Given the description of an element on the screen output the (x, y) to click on. 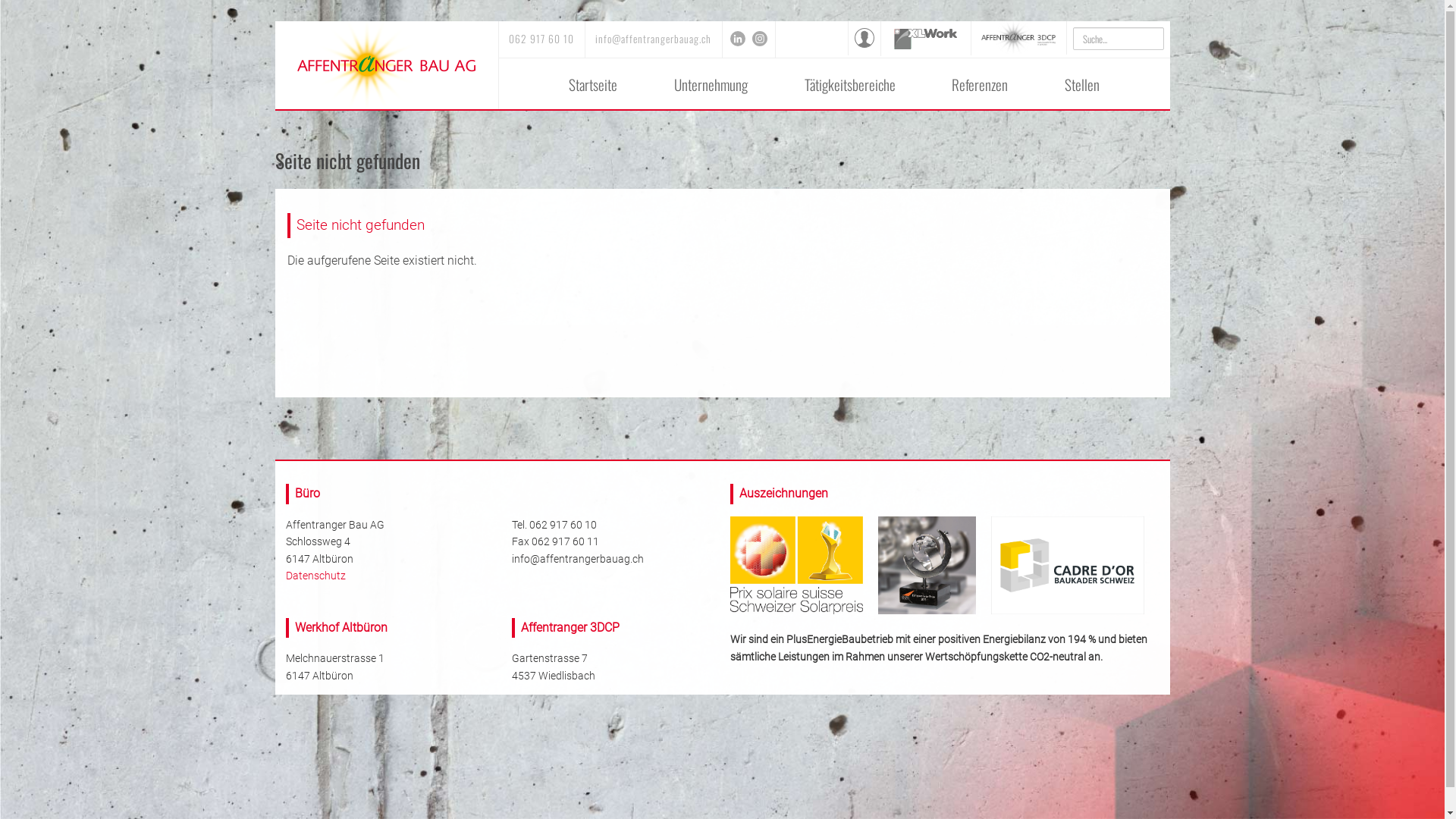
info@affentrangerbauag.ch Element type: text (653, 38)
062 917 60 10 Element type: text (541, 38)
LinkedIn Element type: hover (737, 39)
Stellen Element type: text (1082, 84)
Unternehmung Element type: text (710, 84)
Intranet Element type: hover (864, 42)
Instagram Element type: hover (757, 39)
Referenzen Element type: text (979, 84)
062 917 60 10 Element type: text (562, 524)
Startseite Element type: text (592, 84)
info@affentrangerbauag.ch Element type: text (577, 558)
Datenschutz Element type: text (315, 575)
Gartenstrasse 7
4537 Wiedlisbach Element type: text (552, 666)
